Given the description of an element on the screen output the (x, y) to click on. 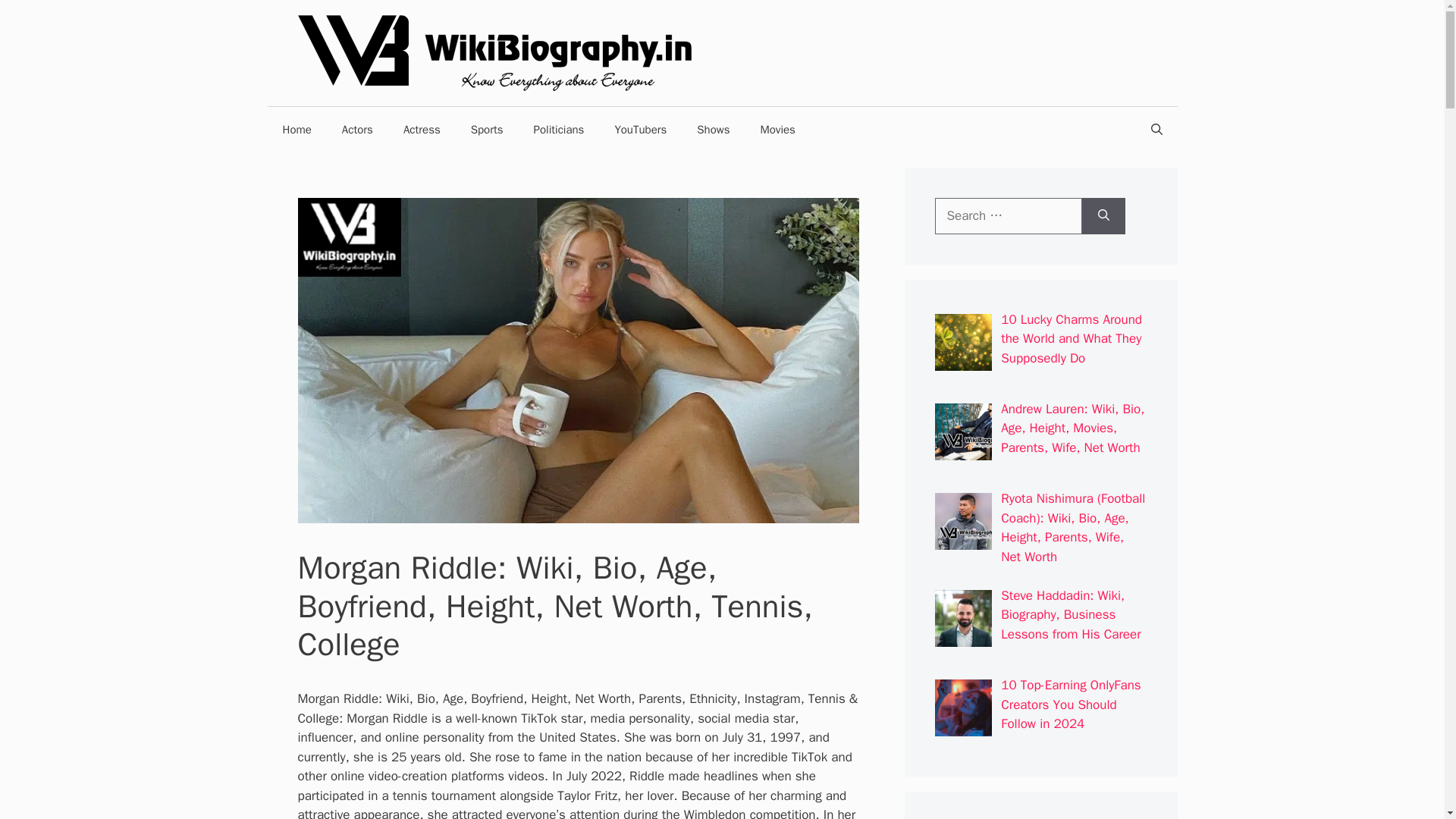
Movies (776, 129)
Actors (357, 129)
Search for: (1007, 216)
Actress (421, 129)
Politicians (558, 129)
YouTubers (639, 129)
Shows (712, 129)
Home (296, 129)
Sports (486, 129)
